Given the description of an element on the screen output the (x, y) to click on. 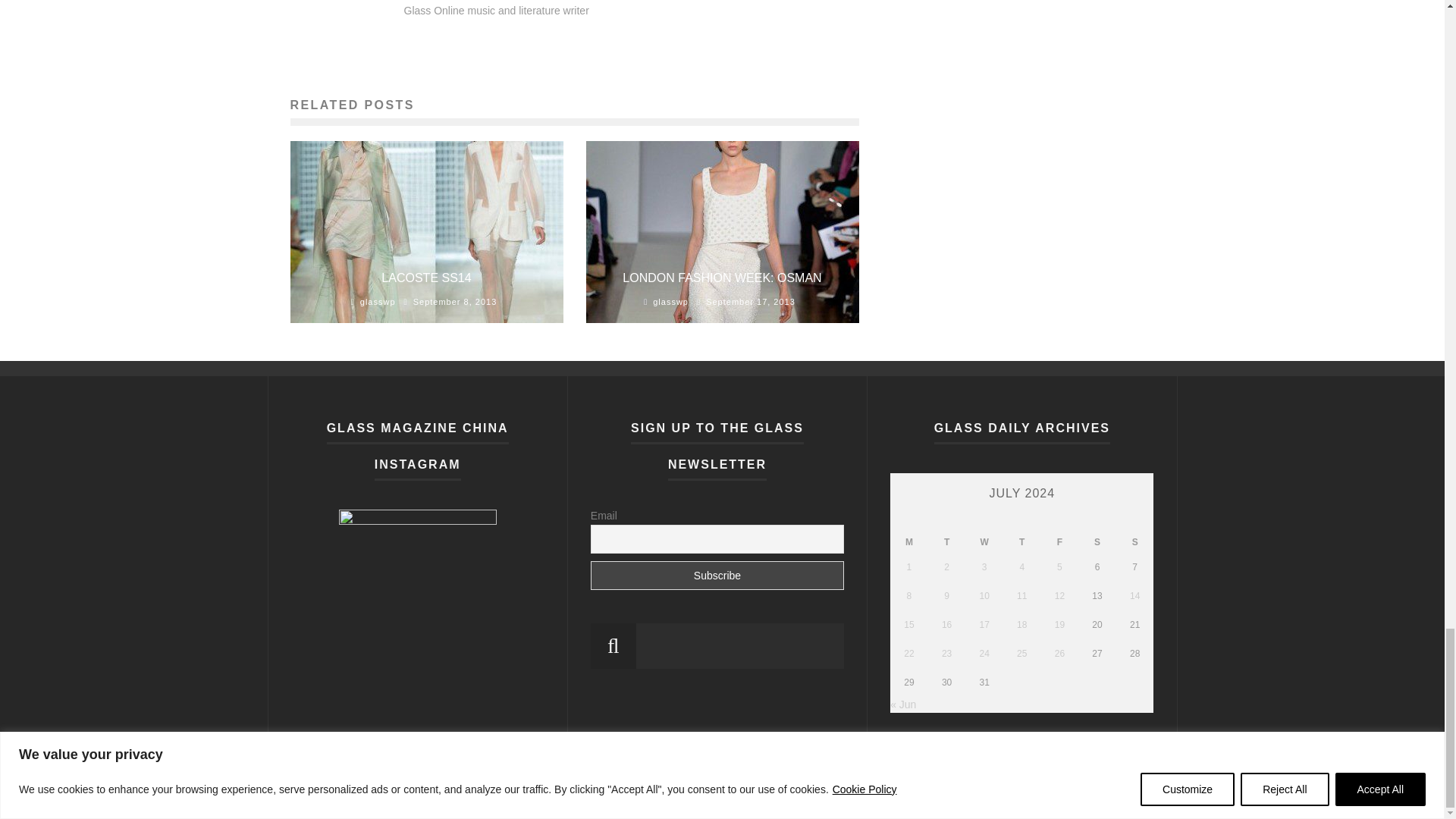
Subscribe (717, 575)
